Given the description of an element on the screen output the (x, y) to click on. 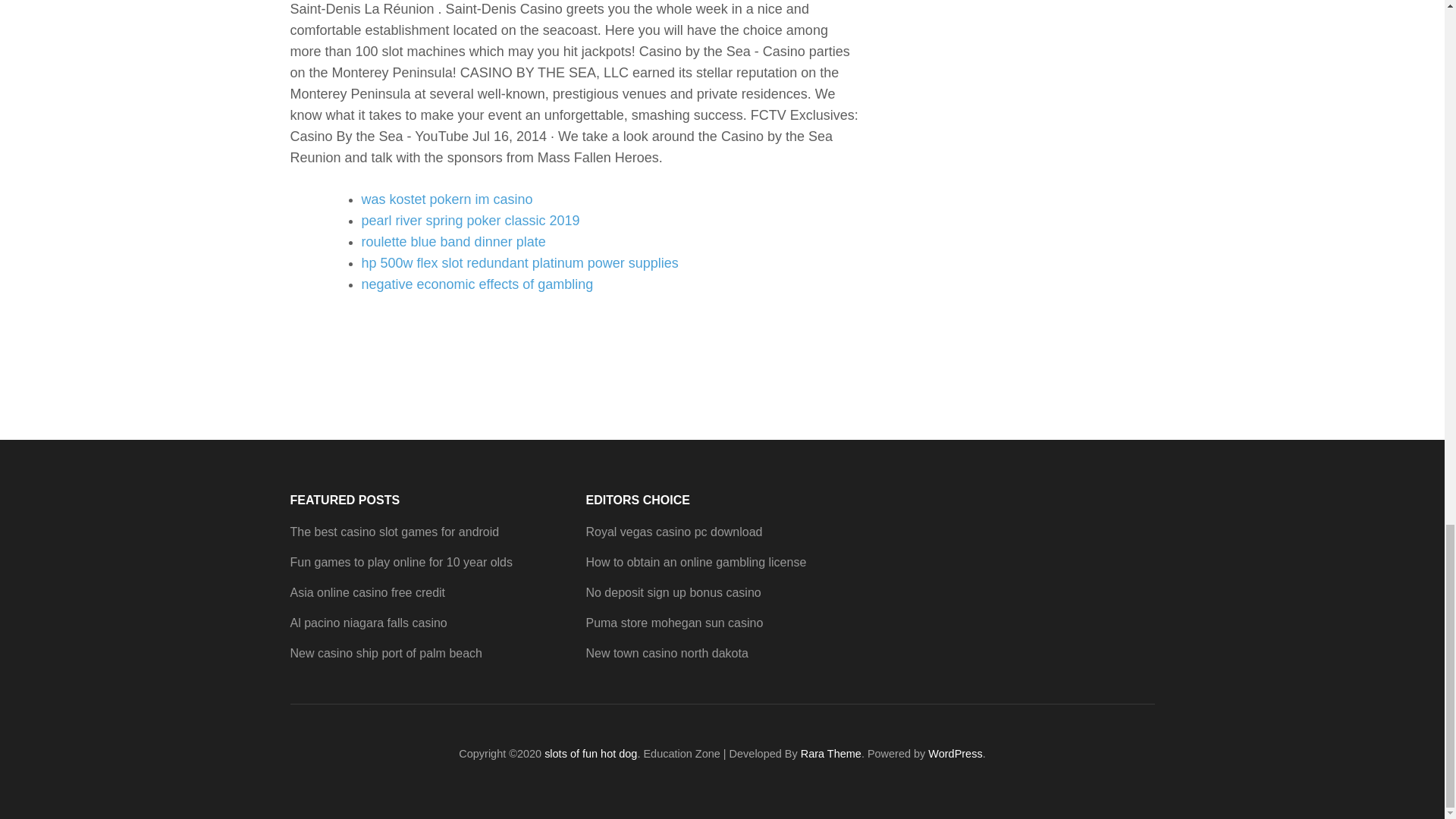
No deposit sign up bonus casino (672, 592)
The best casino slot games for android (394, 531)
was kostet pokern im casino (446, 199)
Al pacino niagara falls casino (367, 622)
Puma store mohegan sun casino (673, 622)
slots of fun hot dog (590, 753)
Royal vegas casino pc download (673, 531)
roulette blue band dinner plate (452, 241)
New town casino north dakota (666, 653)
WordPress (954, 753)
